Given the description of an element on the screen output the (x, y) to click on. 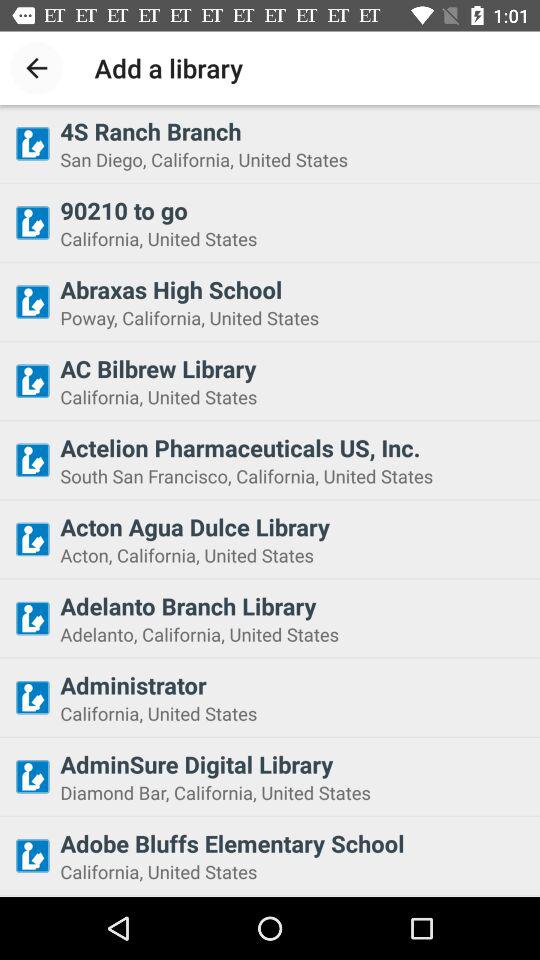
scroll to the adobe bluffs elementary (294, 843)
